Given the description of an element on the screen output the (x, y) to click on. 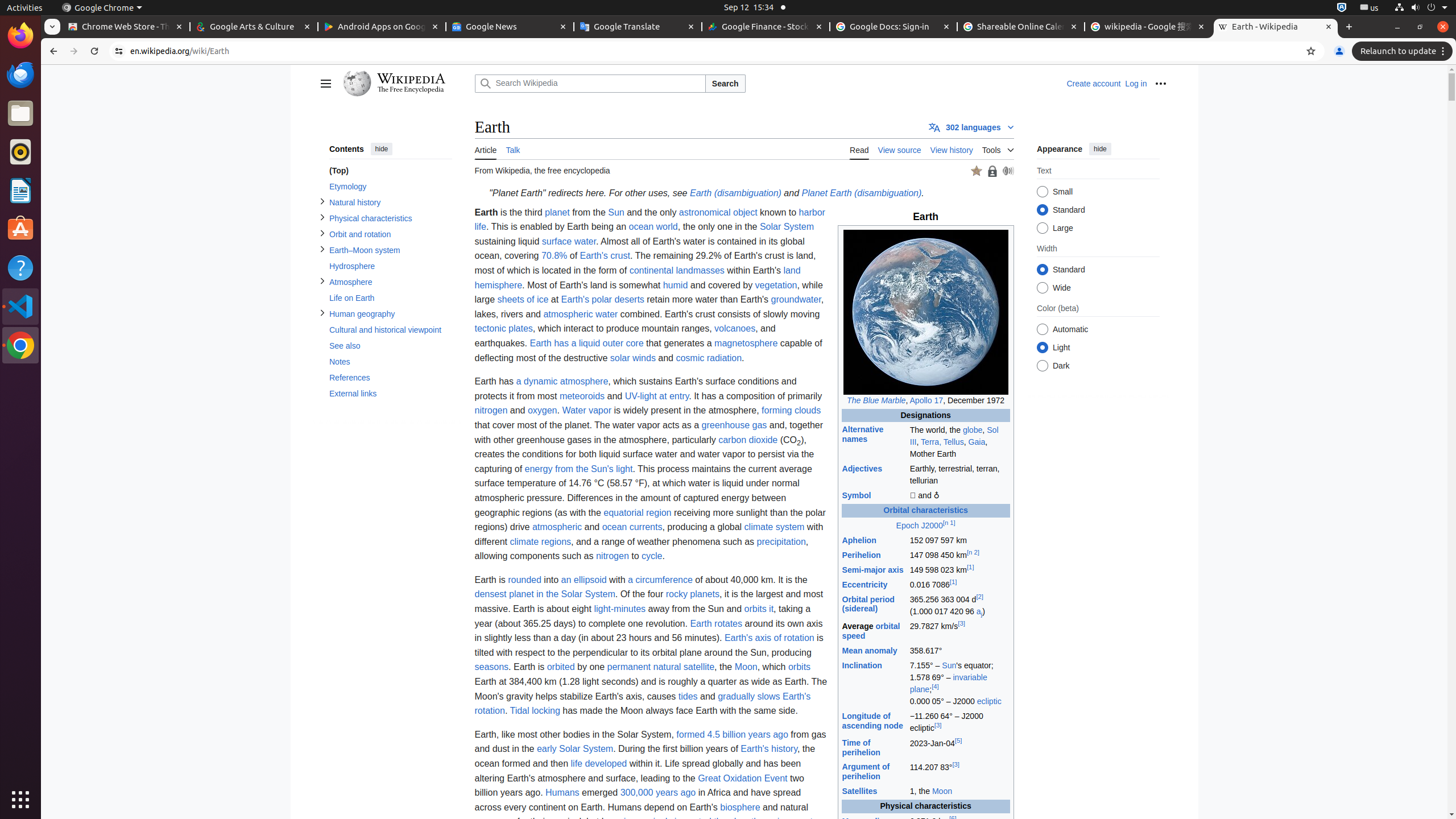
J2000 Element type: link (931, 525)
−11.26064° – J2000 ecliptic[3] Element type: table-cell (959, 722)
Perihelion Element type: link (860, 554)
hide Element type: push-button (381, 148)
Toggle Atmosphere subsection Element type: push-button (321, 280)
